Given the description of an element on the screen output the (x, y) to click on. 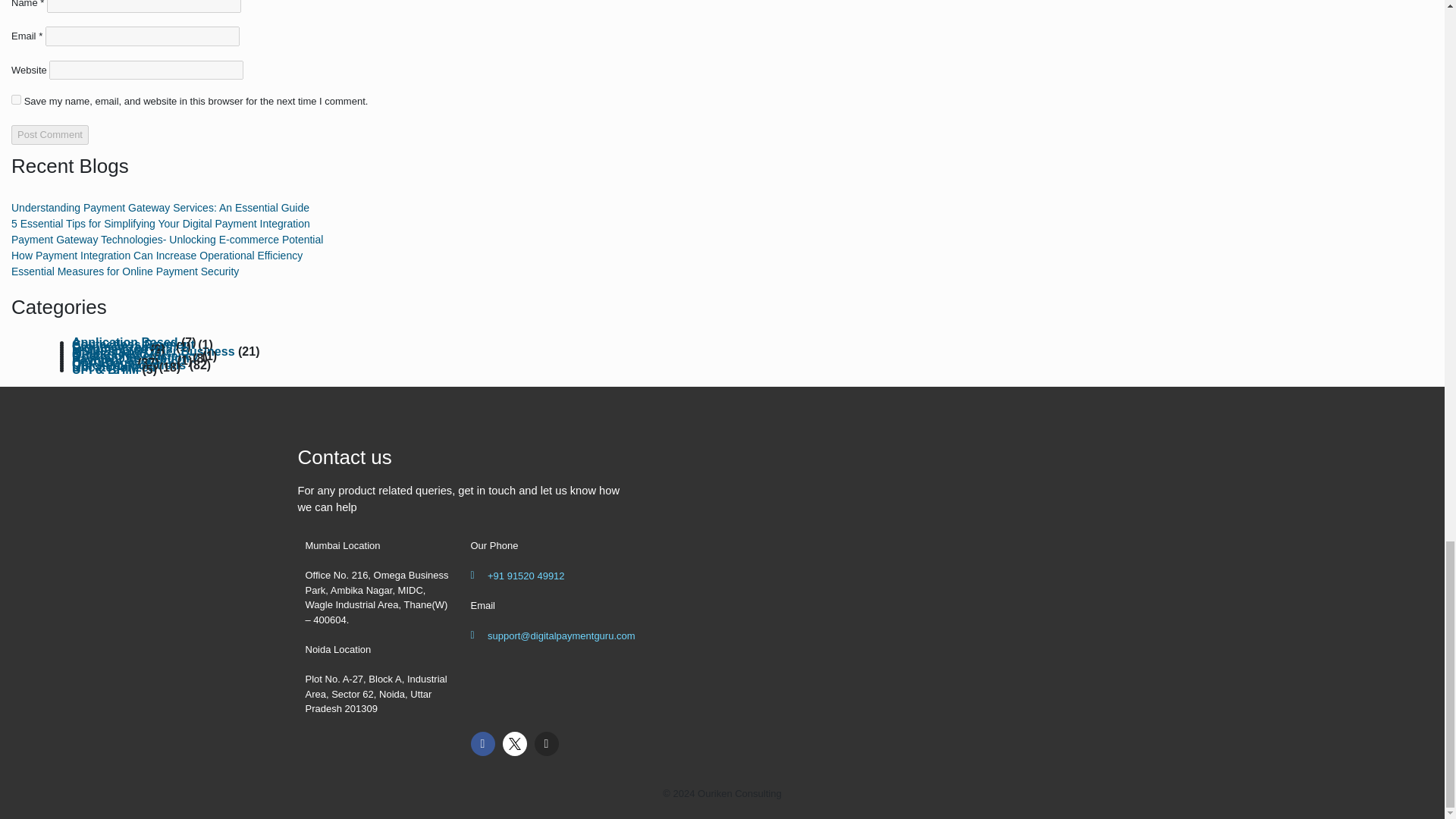
E-Commerce (109, 349)
Essential Measures for Online Payment Security (124, 271)
MSMEs And Other Business (152, 350)
Application Based (124, 341)
yes (16, 99)
How Payment Integration Can Increase Operational Efficiency (156, 255)
Contactless Payment (133, 344)
Payment Gateway Technologies- Unlocking E-commerce Potential (167, 239)
Post Comment (49, 134)
